Given the description of an element on the screen output the (x, y) to click on. 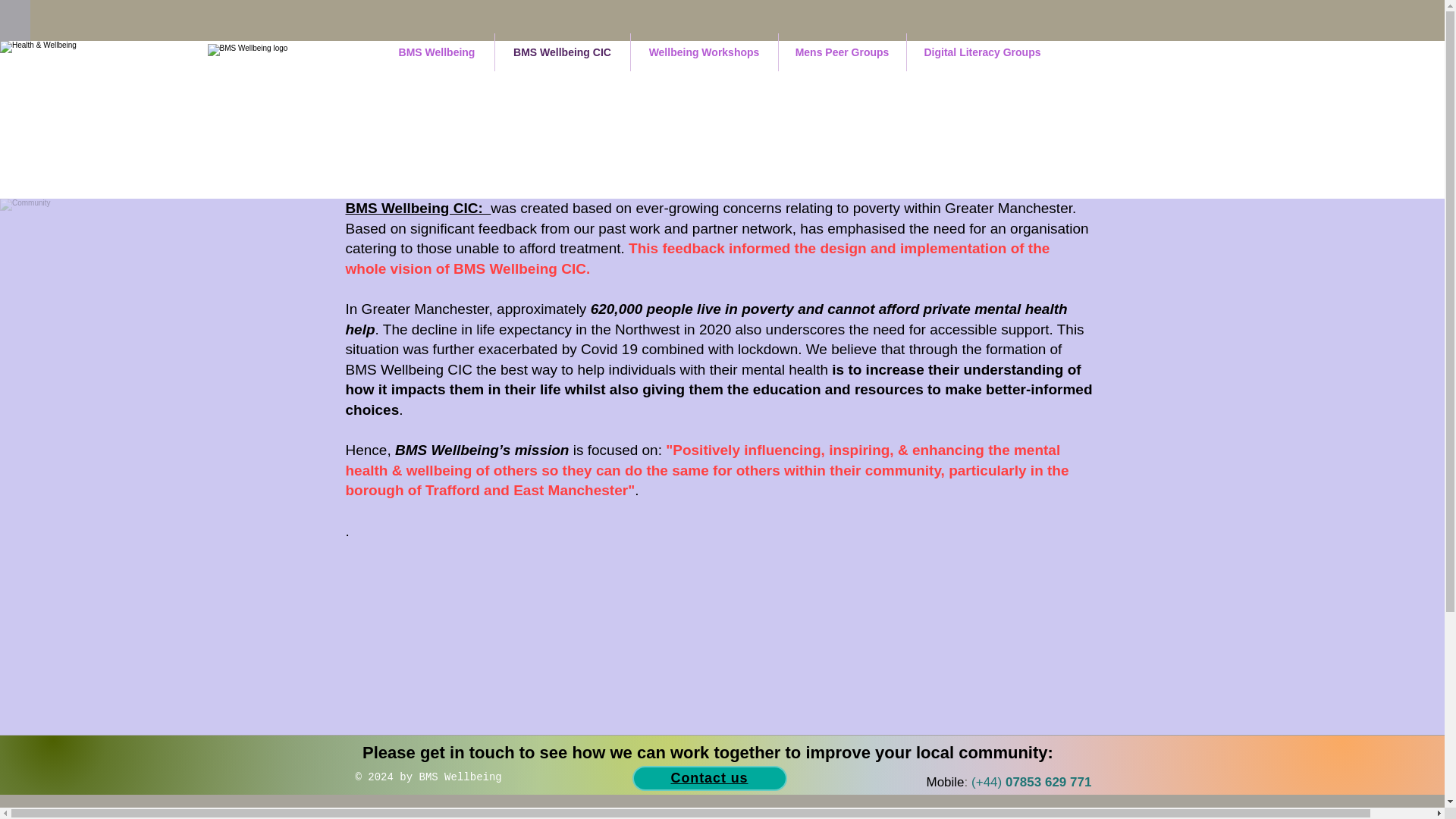
BMS Wellbeing (435, 52)
Mens Peer Groups (841, 52)
BMS Wellbeing CIC (561, 52)
Digital Literacy Groups (982, 52)
Wellbeing Workshops (703, 52)
Contact us (709, 778)
